Given the description of an element on the screen output the (x, y) to click on. 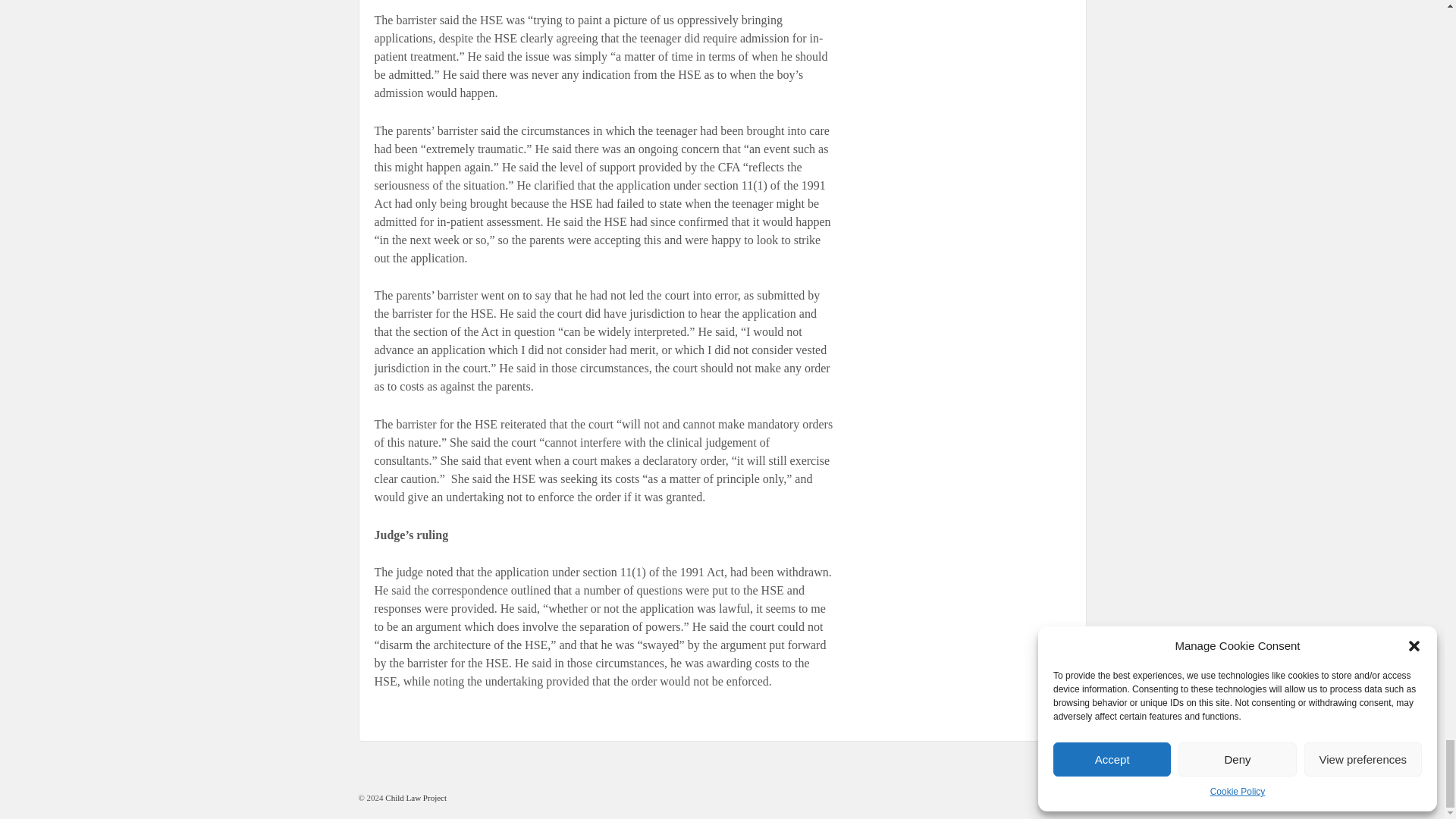
Child Law Project (415, 796)
Child Law Project (415, 796)
